Given the description of an element on the screen output the (x, y) to click on. 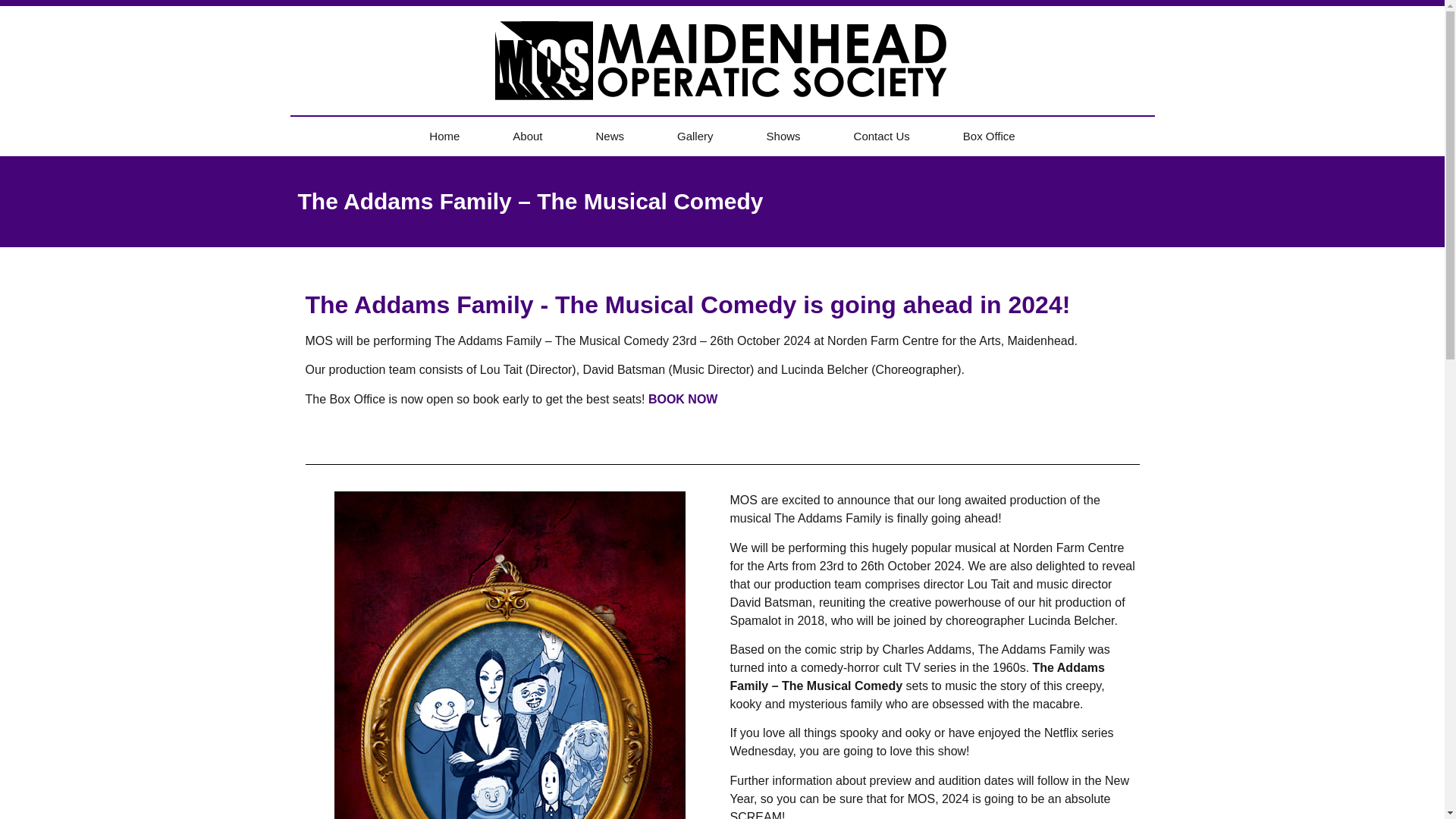
News (609, 136)
Gallery (694, 136)
BOOK NOW (682, 399)
Shows (783, 136)
Box Office (989, 136)
Home (444, 136)
Contact Us (881, 136)
About (527, 136)
